Given the description of an element on the screen output the (x, y) to click on. 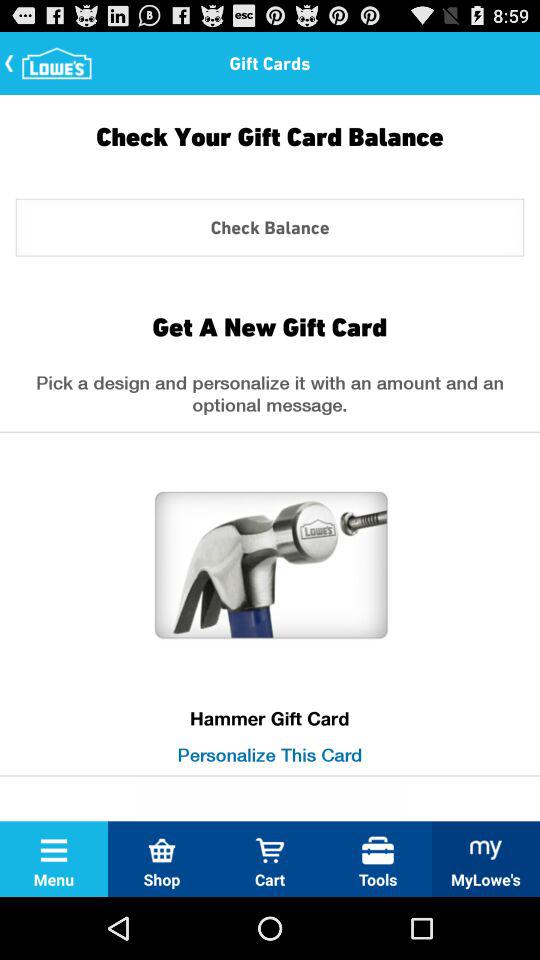
open the get a new (269, 326)
